Given the description of an element on the screen output the (x, y) to click on. 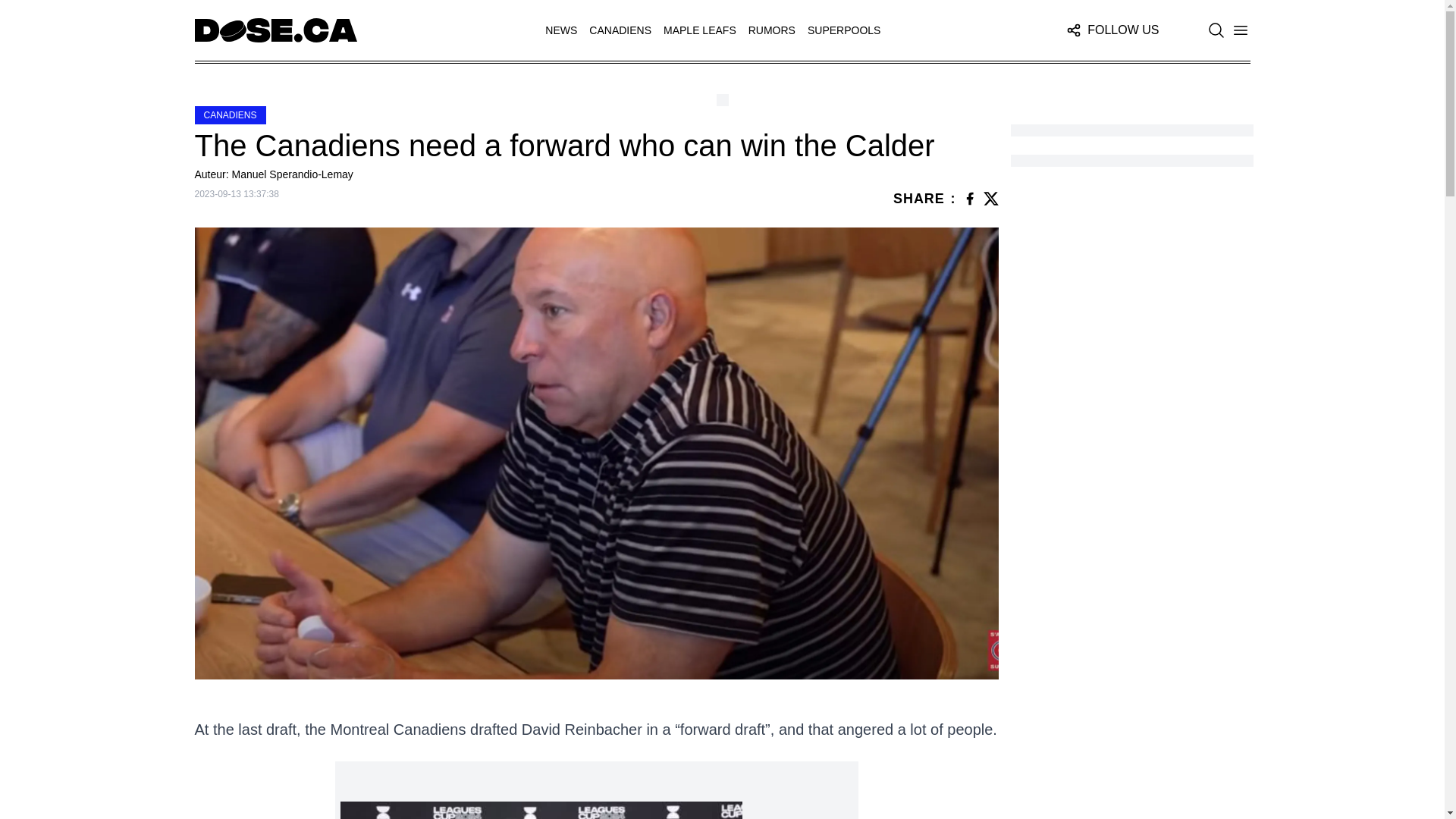
Manuel Sperandio-Lemay (292, 174)
CANADIENS (228, 115)
MAPLE LEAFS (699, 30)
The Canadiens need a forward who can win the Calder (595, 145)
RUMORS (771, 30)
SUPERPOOLS (844, 30)
CANADIENS (619, 30)
NEWS (560, 30)
